Given the description of an element on the screen output the (x, y) to click on. 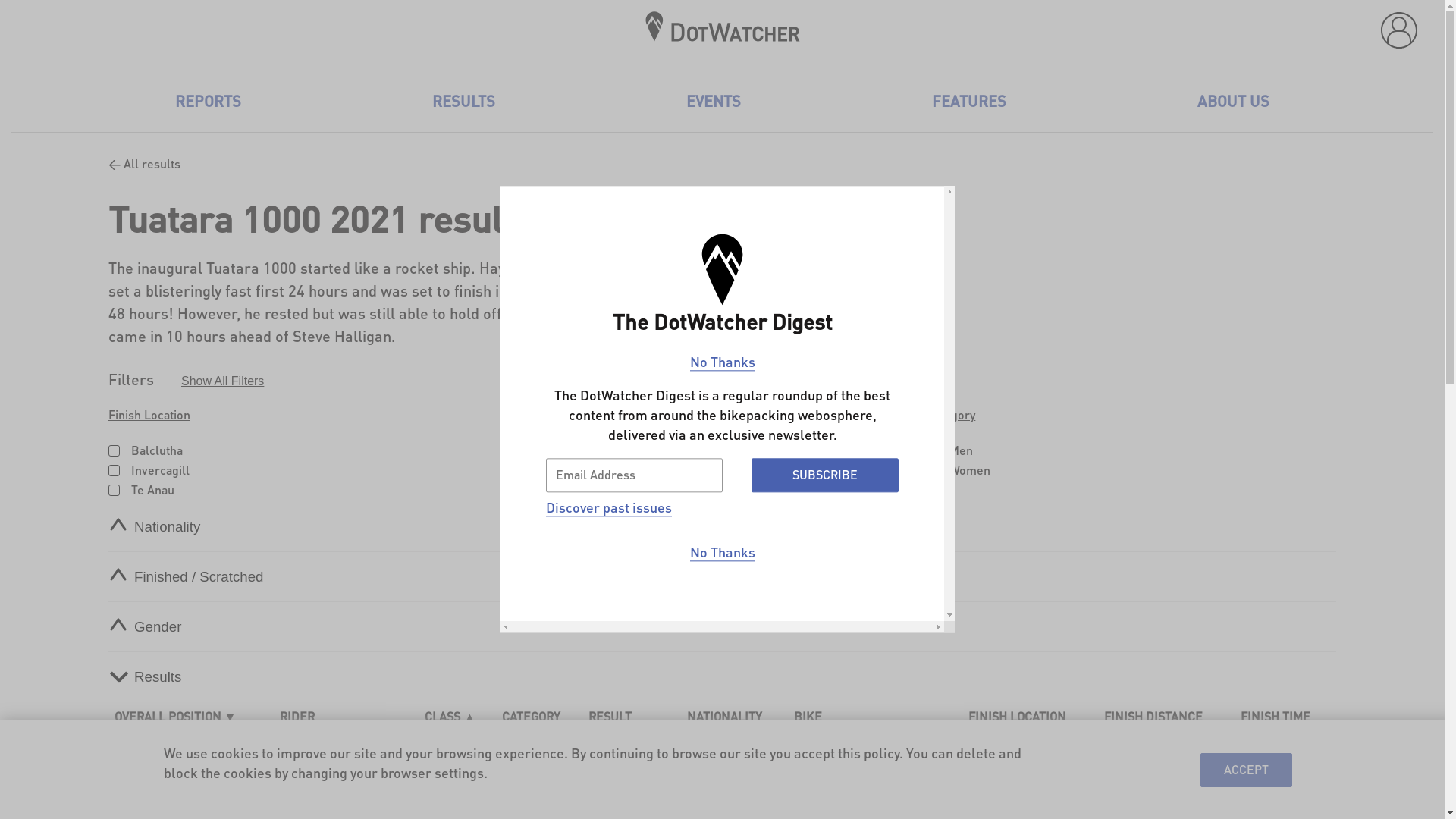
EVENTS Element type: text (713, 100)
FEATURES Element type: text (968, 100)
Discover past issues Element type: text (608, 507)
No Thanks Element type: text (722, 552)
SUBSCRIBE Element type: text (824, 475)
RESULTS Element type: text (463, 100)
ACCEPT Element type: text (1246, 769)
Finished / Scratched Element type: text (188, 576)
Scroll to top Element type: hover (1414, 788)
Show All Filters Element type: text (222, 381)
No Thanks Element type: text (722, 361)
My Account Element type: hover (1398, 30)
Steve Halligan Element type: text (346, 787)
Nationality Element type: text (157, 526)
DotWatcher.cc Element type: hover (722, 26)
REPORTS Element type: text (208, 100)
Gender Element type: text (147, 626)
ABOUT US Element type: text (1233, 100)
DotWatcher.cc Element type: hover (722, 36)
Results Element type: text (147, 676)
Hayden McCormick Element type: text (346, 750)
